Given the description of an element on the screen output the (x, y) to click on. 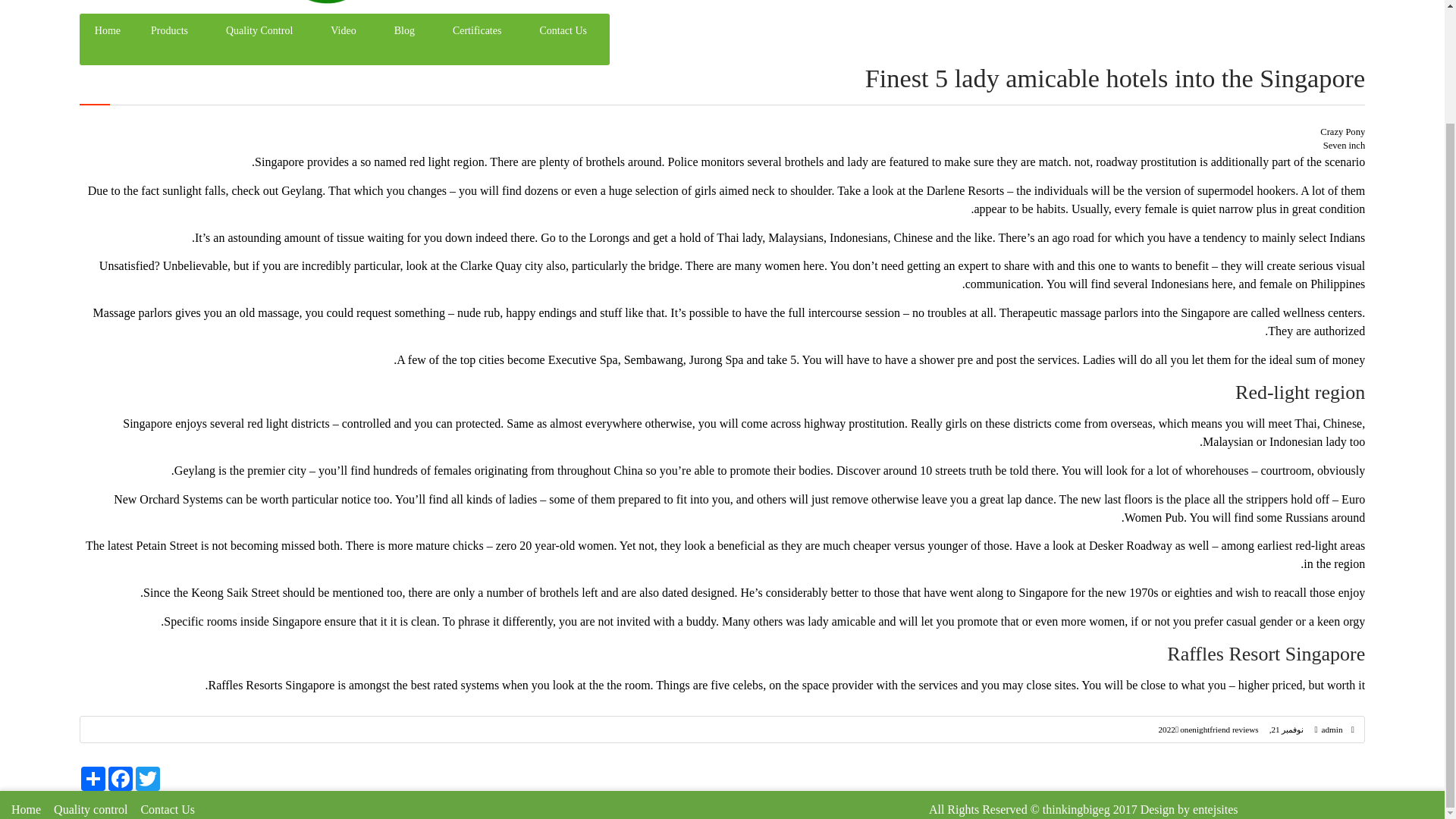
Contact Us (167, 809)
Products (169, 30)
Share (93, 778)
View all posts in onenightfriend reviews (1218, 728)
Video (343, 30)
Contact Us (563, 30)
onenightfriend reviews (1218, 728)
Home (25, 809)
Quality Control (259, 30)
Certificates (477, 30)
View all posts by admin (1332, 728)
Home (107, 30)
Blog (403, 30)
Facebook (119, 778)
admin (1332, 728)
